Given the description of an element on the screen output the (x, y) to click on. 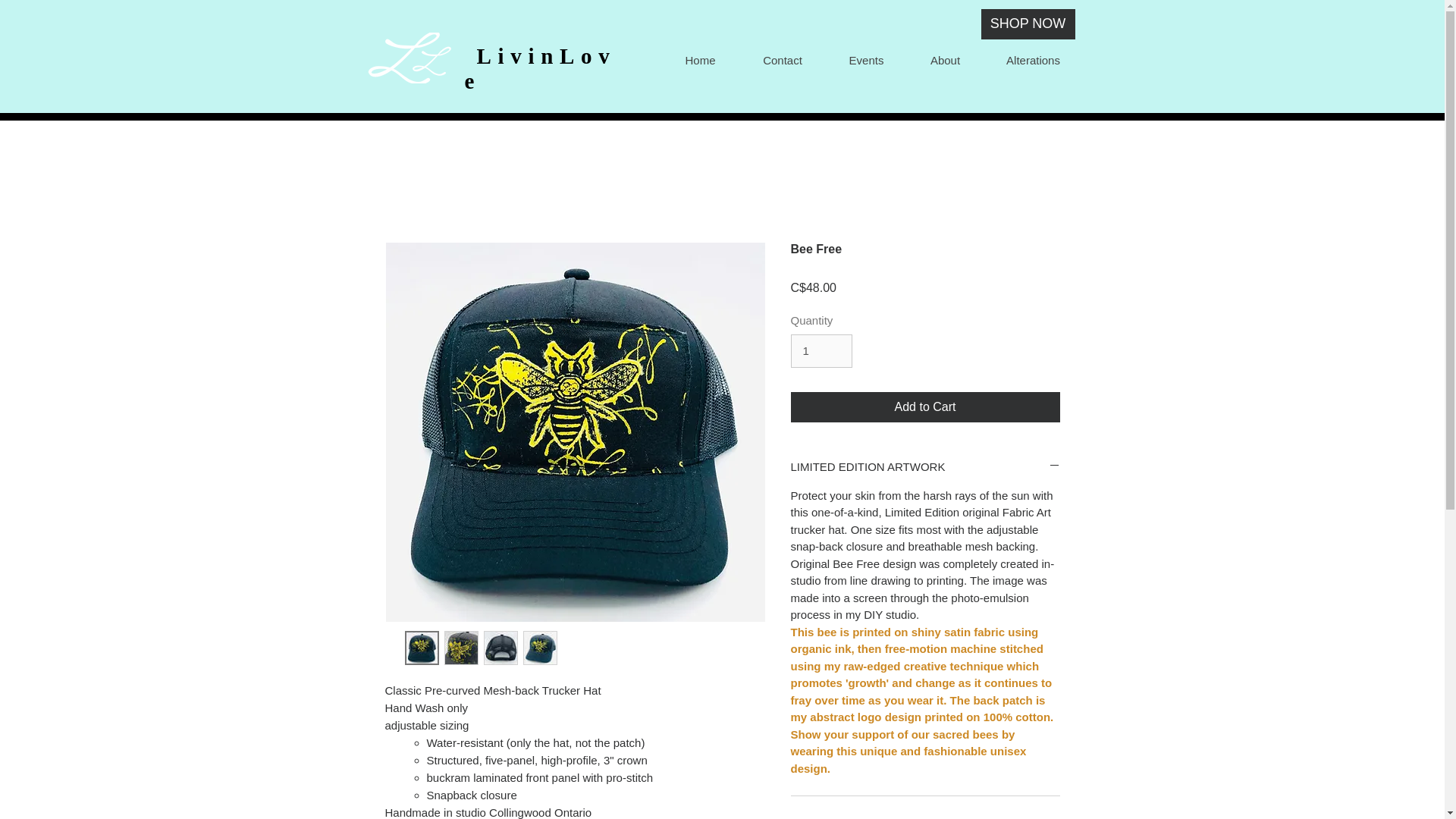
Contact (781, 59)
SHOP NOW (1028, 24)
About (945, 59)
LIMITED EDITION ARTWORK (924, 466)
Home (699, 59)
Add to Cart (924, 407)
RETURN AND EXCHANGE POLICY (924, 816)
1 (820, 350)
 LivinLove (539, 68)
Alterations (1031, 59)
